Given the description of an element on the screen output the (x, y) to click on. 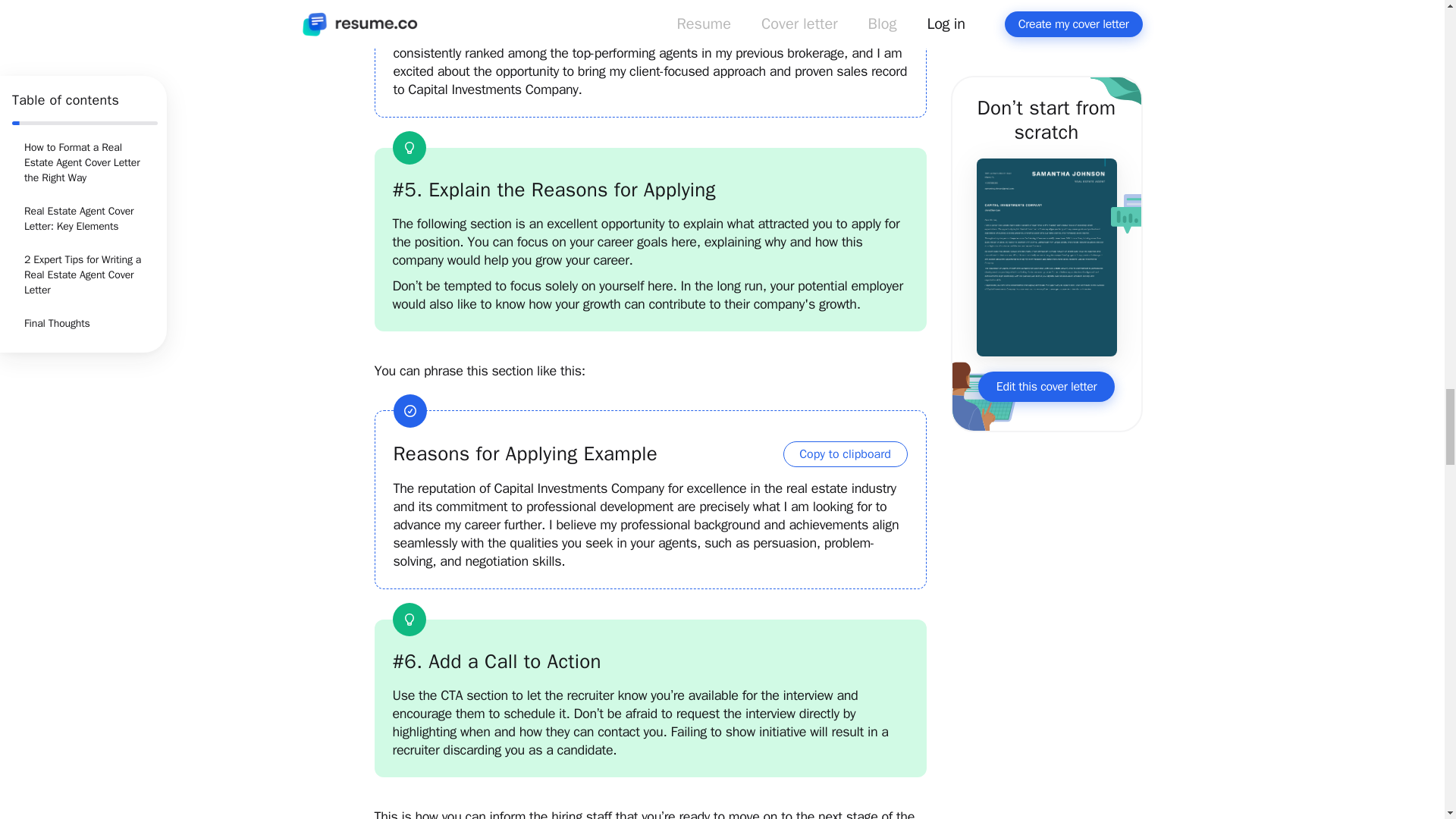
Copy to clipboard (845, 453)
